Given the description of an element on the screen output the (x, y) to click on. 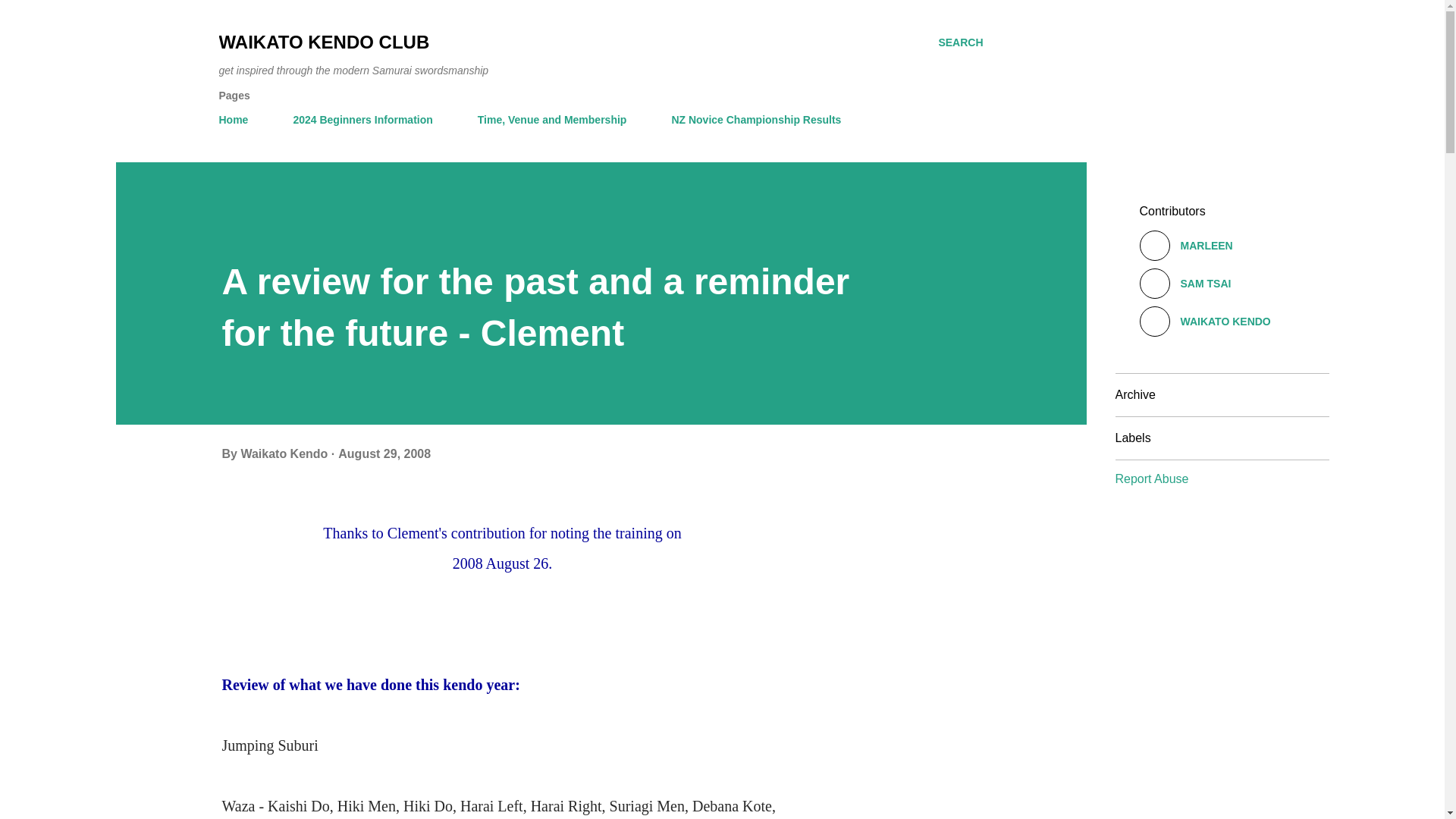
Waikato Kendo (285, 453)
WAIKATO KENDO CLUB (323, 41)
author profile (285, 453)
2024 Beginners Information (362, 119)
Home (237, 119)
NZ Novice Championship Results (756, 119)
August 29, 2008 (383, 453)
permanent link (383, 453)
SEARCH (959, 42)
Time, Venue and Membership (552, 119)
